Given the description of an element on the screen output the (x, y) to click on. 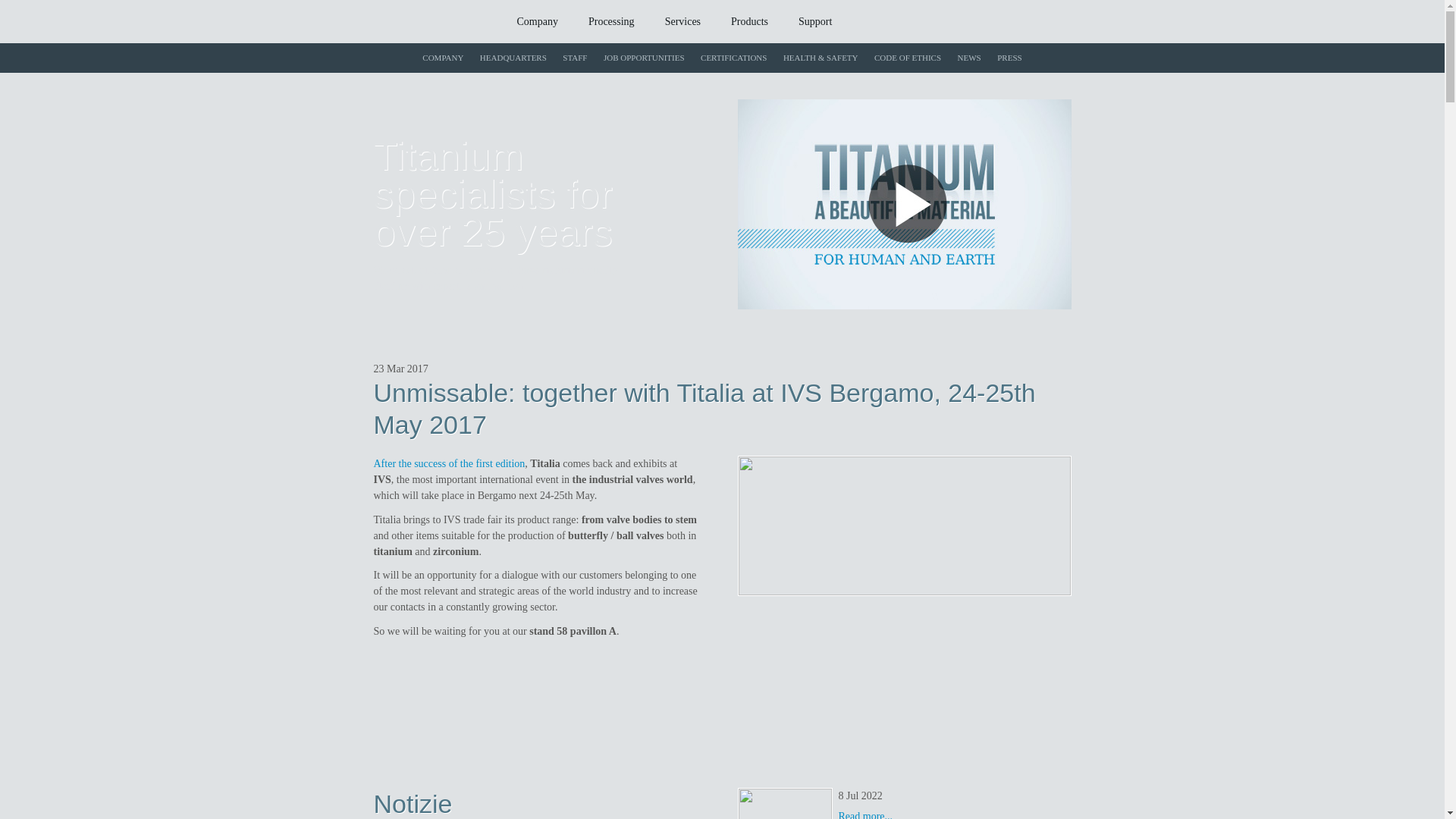
Processing (611, 22)
CERTIFICATIONS (733, 57)
PRESS (1008, 57)
STAFF (575, 57)
After the success of the first edition (448, 463)
PRESS (1008, 57)
Services (682, 22)
CODE OF ETHICS (907, 57)
COMPANY (442, 57)
